Given the description of an element on the screen output the (x, y) to click on. 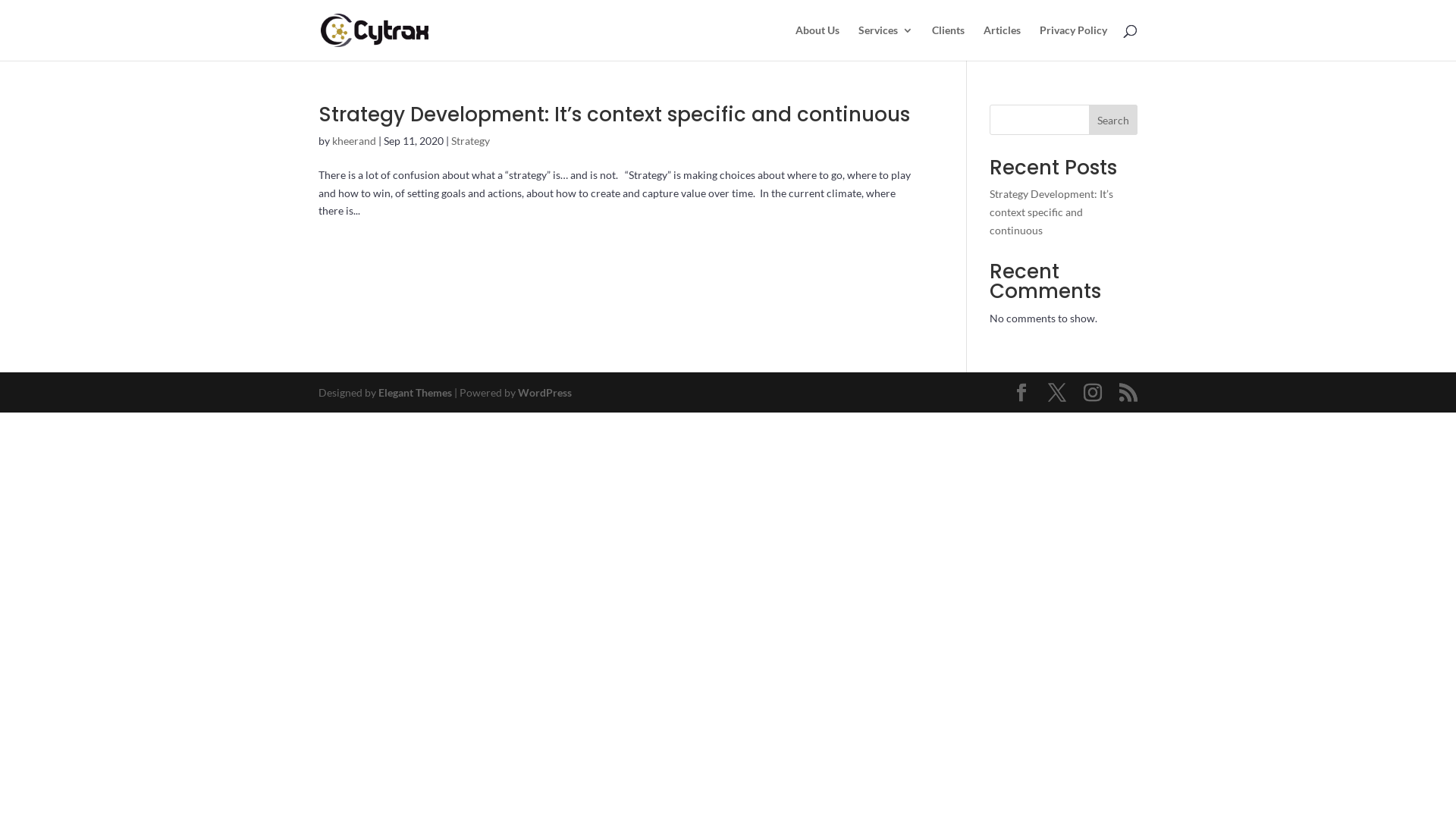
Clients Element type: text (947, 42)
Strategy Element type: text (470, 140)
kheerand Element type: text (354, 140)
Services Element type: text (885, 42)
Privacy Policy Element type: text (1073, 42)
WordPress Element type: text (544, 391)
Search Element type: text (1112, 119)
Elegant Themes Element type: text (414, 391)
About Us Element type: text (817, 42)
Articles Element type: text (1001, 42)
